Given the description of an element on the screen output the (x, y) to click on. 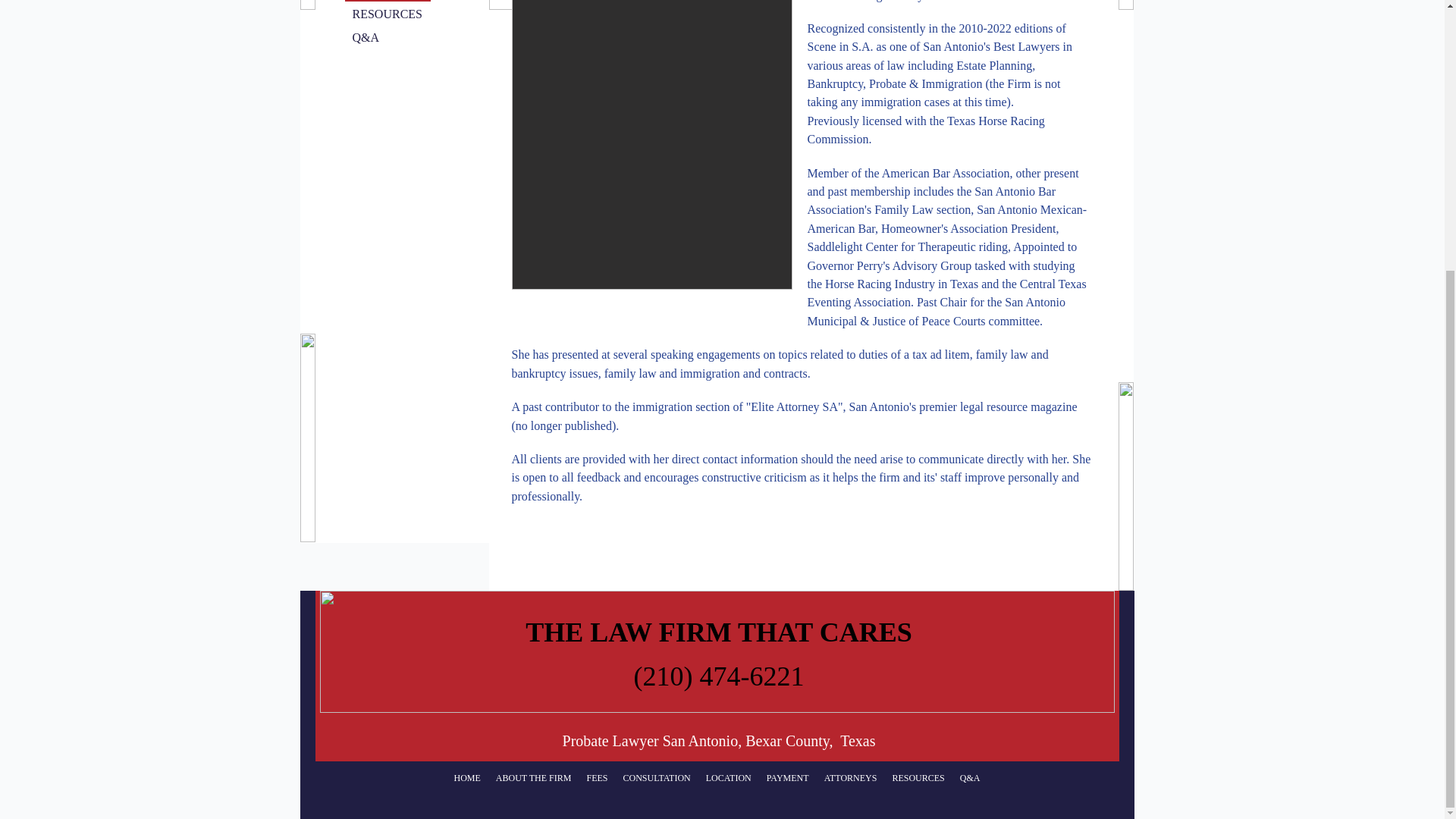
CONSULTATION (655, 777)
PAYMENT (787, 777)
FEES (596, 777)
ATTORNEYS (386, 0)
ATTORNEYS (850, 777)
HOME (466, 777)
LOCATION (728, 777)
RESOURCES (386, 14)
ABOUT THE FIRM (533, 777)
RESOURCES (917, 777)
